Given the description of an element on the screen output the (x, y) to click on. 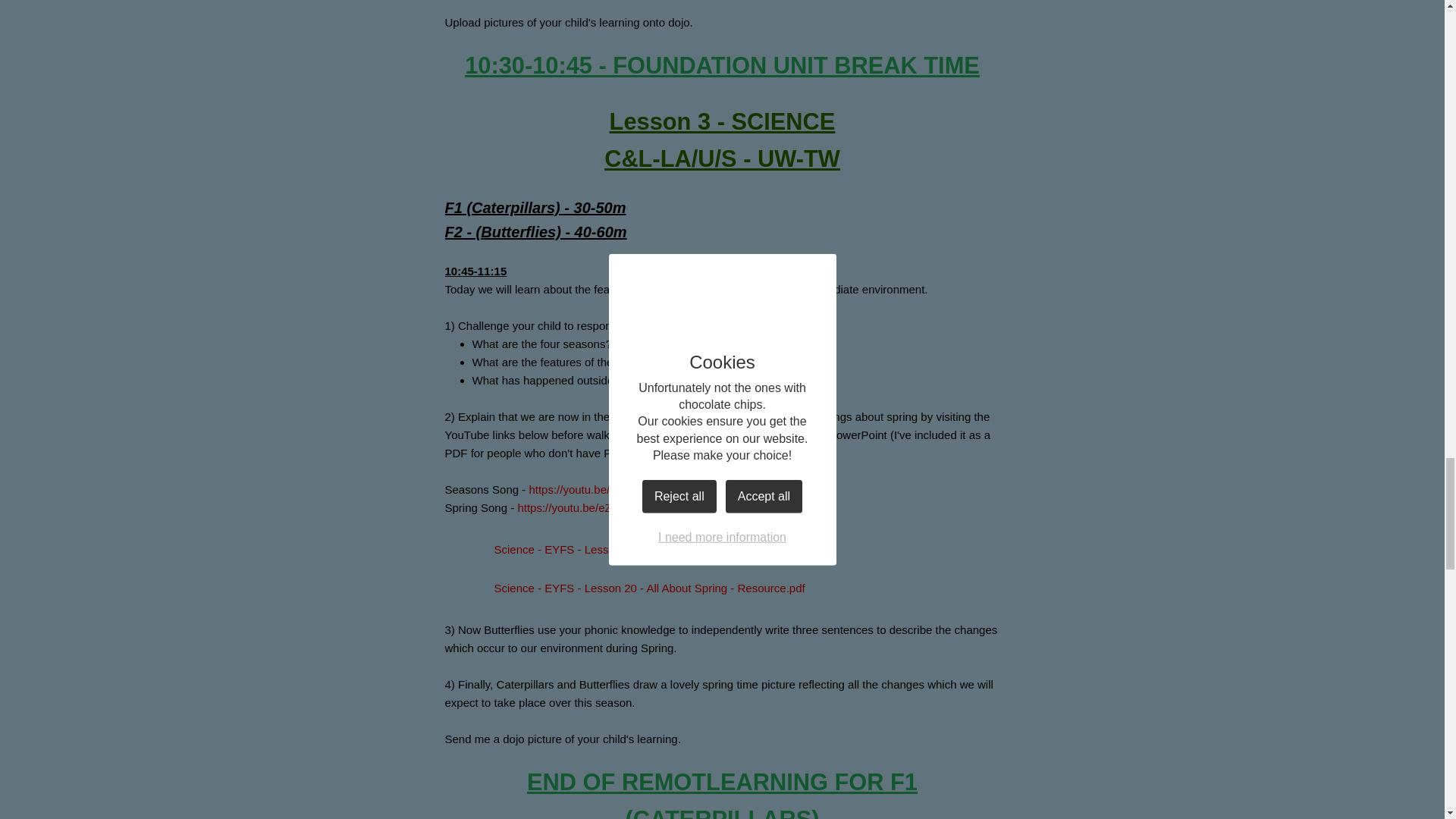
Science - EYFS - Lesson 20 - All About Spring - Resource.pdf (624, 588)
Science - EYFS - Lesson 20 - All About Spring - Resource.ppt (624, 549)
